Given the description of an element on the screen output the (x, y) to click on. 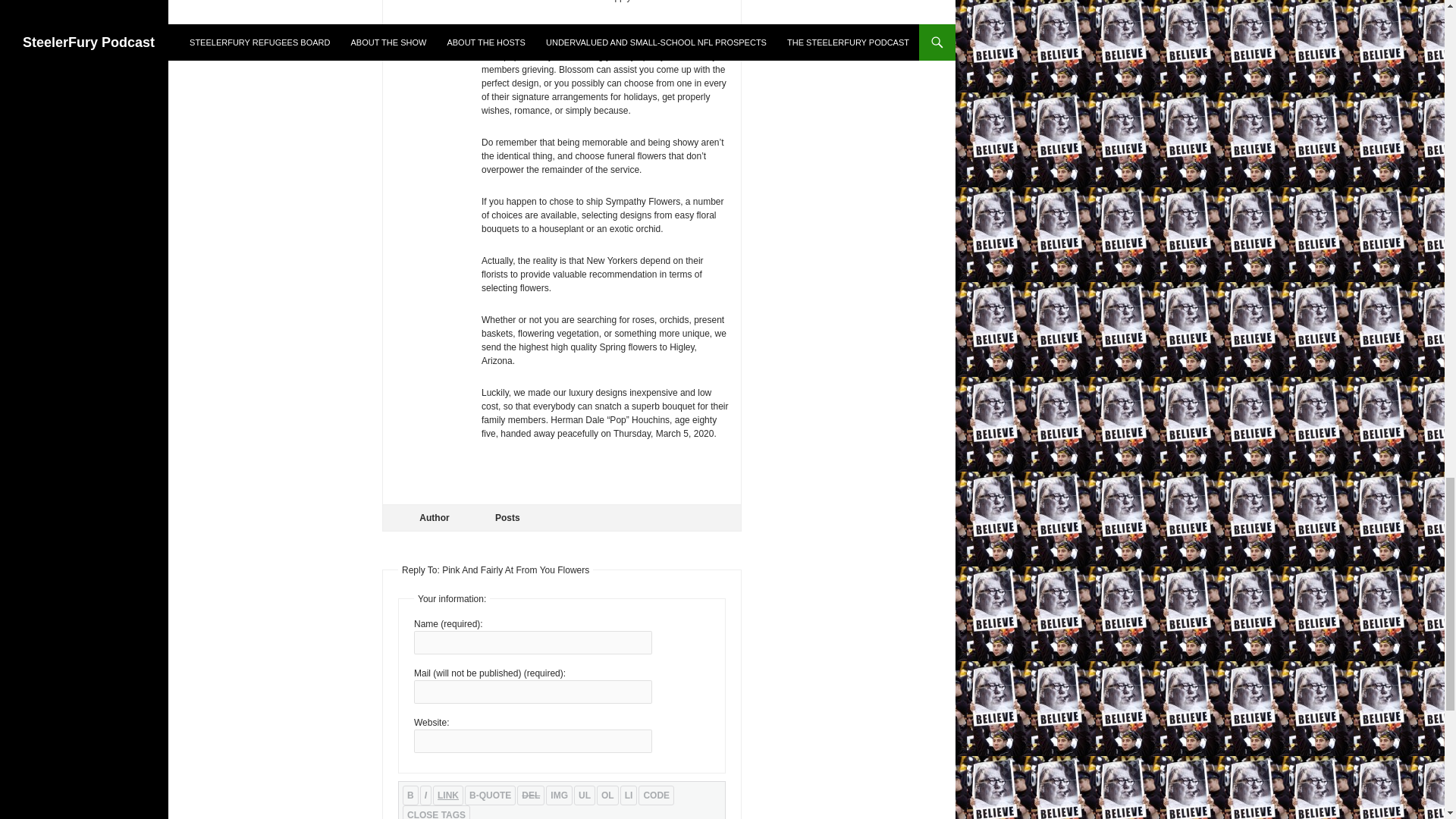
ul (584, 795)
link (447, 795)
del (530, 795)
code (656, 795)
close tags (436, 812)
ol (607, 795)
Close all open tags (436, 812)
img (559, 795)
b-quote (489, 795)
